Given the description of an element on the screen output the (x, y) to click on. 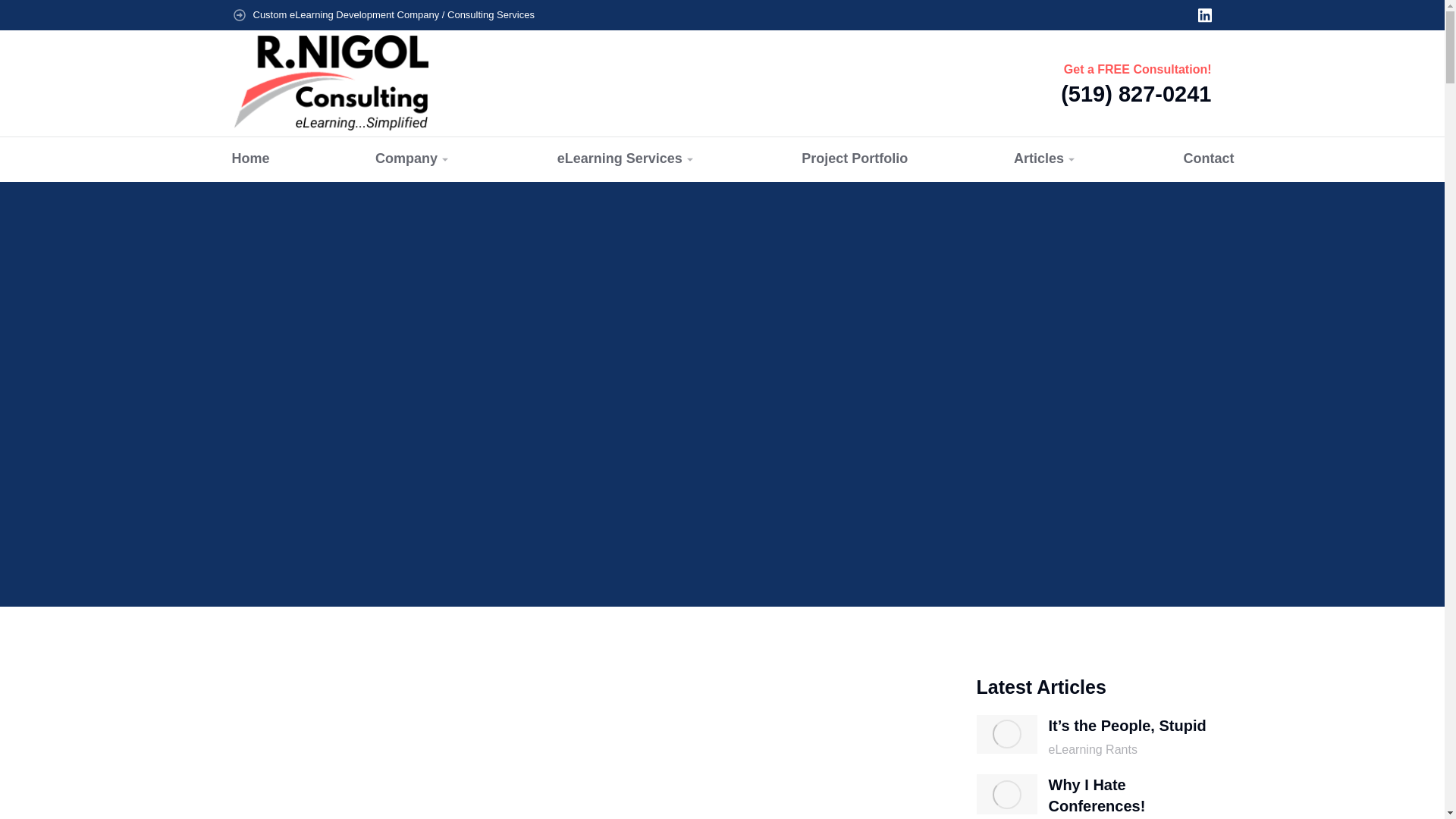
Home (240, 158)
Company (402, 158)
eLearning Services (615, 158)
Why I Hate Conferences! (1129, 794)
Get a FREE Consultation! (1137, 69)
